Given the description of an element on the screen output the (x, y) to click on. 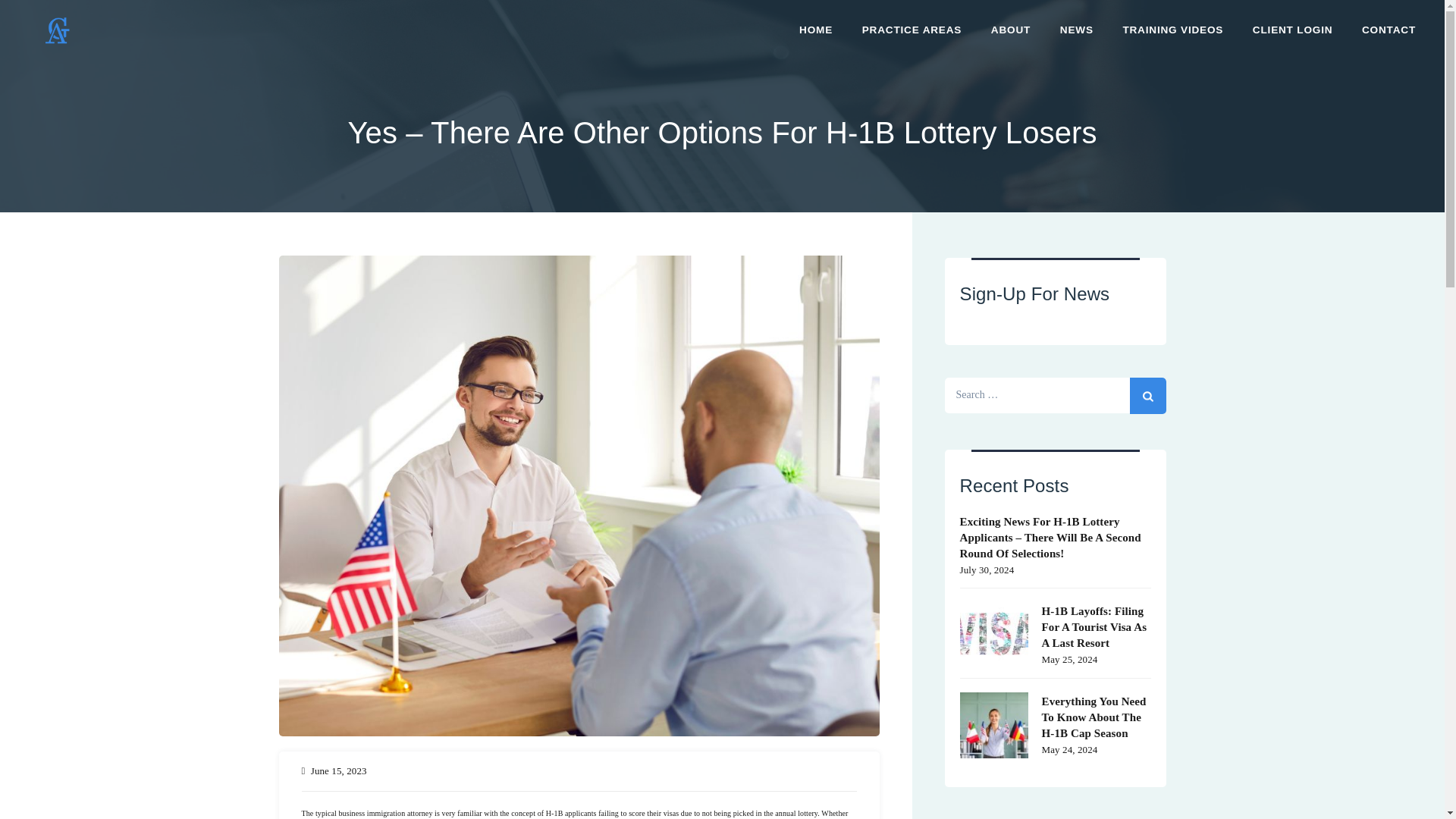
PRACTICE AREAS (911, 30)
ABOUT (1009, 30)
Everything You Need To Know About The H-1B Cap Season (1055, 716)
H-1B Layoffs: Filing For A Tourist Visa As A Last Resort (1055, 625)
TRAINING VIDEOS (1172, 30)
Search (1147, 395)
CONTACT (1388, 30)
NEWS (1076, 30)
business immigration (370, 813)
CLIENT LOGIN (1292, 30)
Search (1147, 395)
HOME (815, 30)
Search (1147, 395)
June 15, 2023 (338, 770)
